Given the description of an element on the screen output the (x, y) to click on. 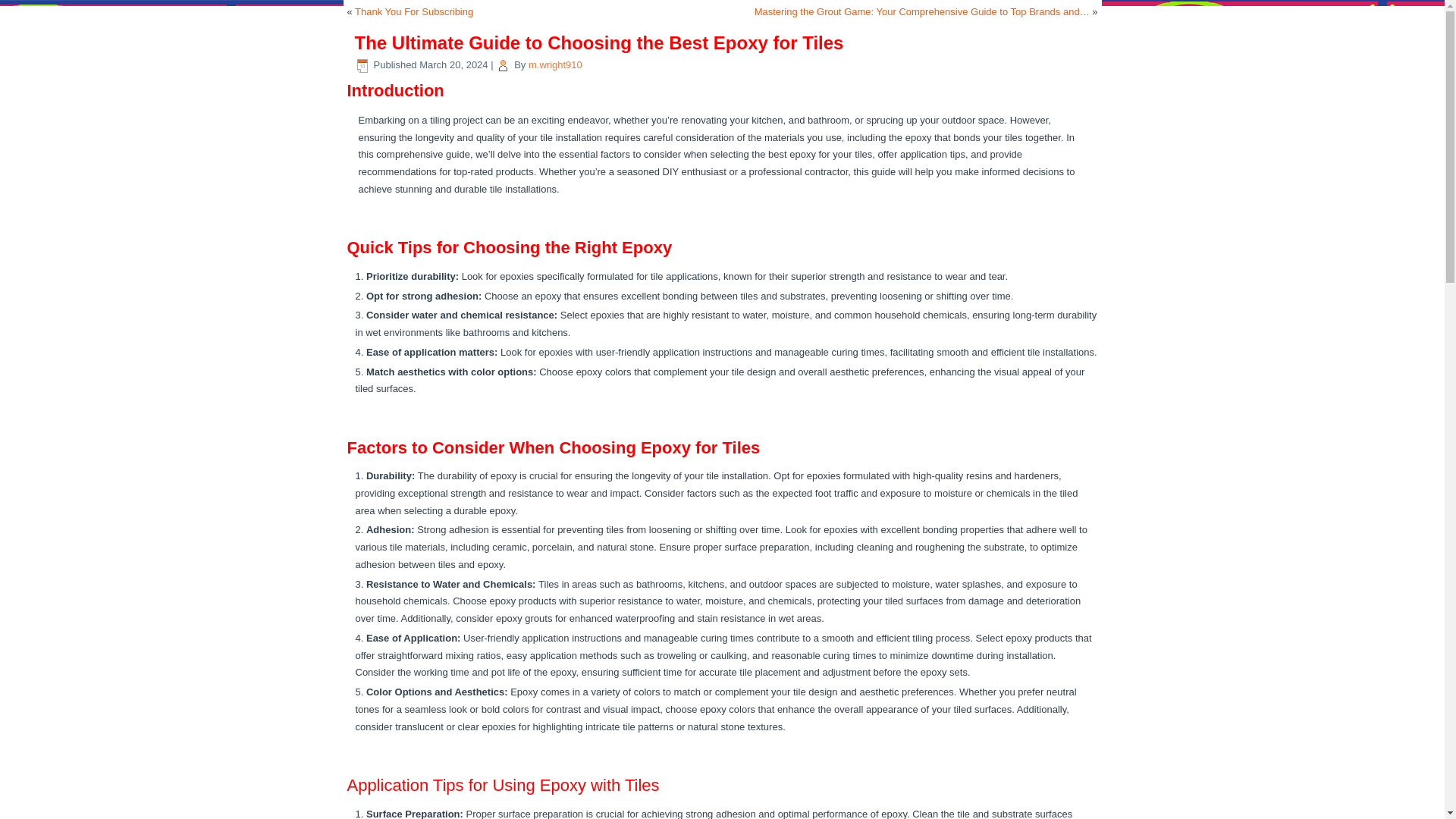
m.wright910 (555, 64)
Thank You For Subscribing (414, 11)
Thank You For Subscribing (414, 11)
View all posts by m.wright910 (555, 64)
12:36 pm (453, 64)
